Given the description of an element on the screen output the (x, y) to click on. 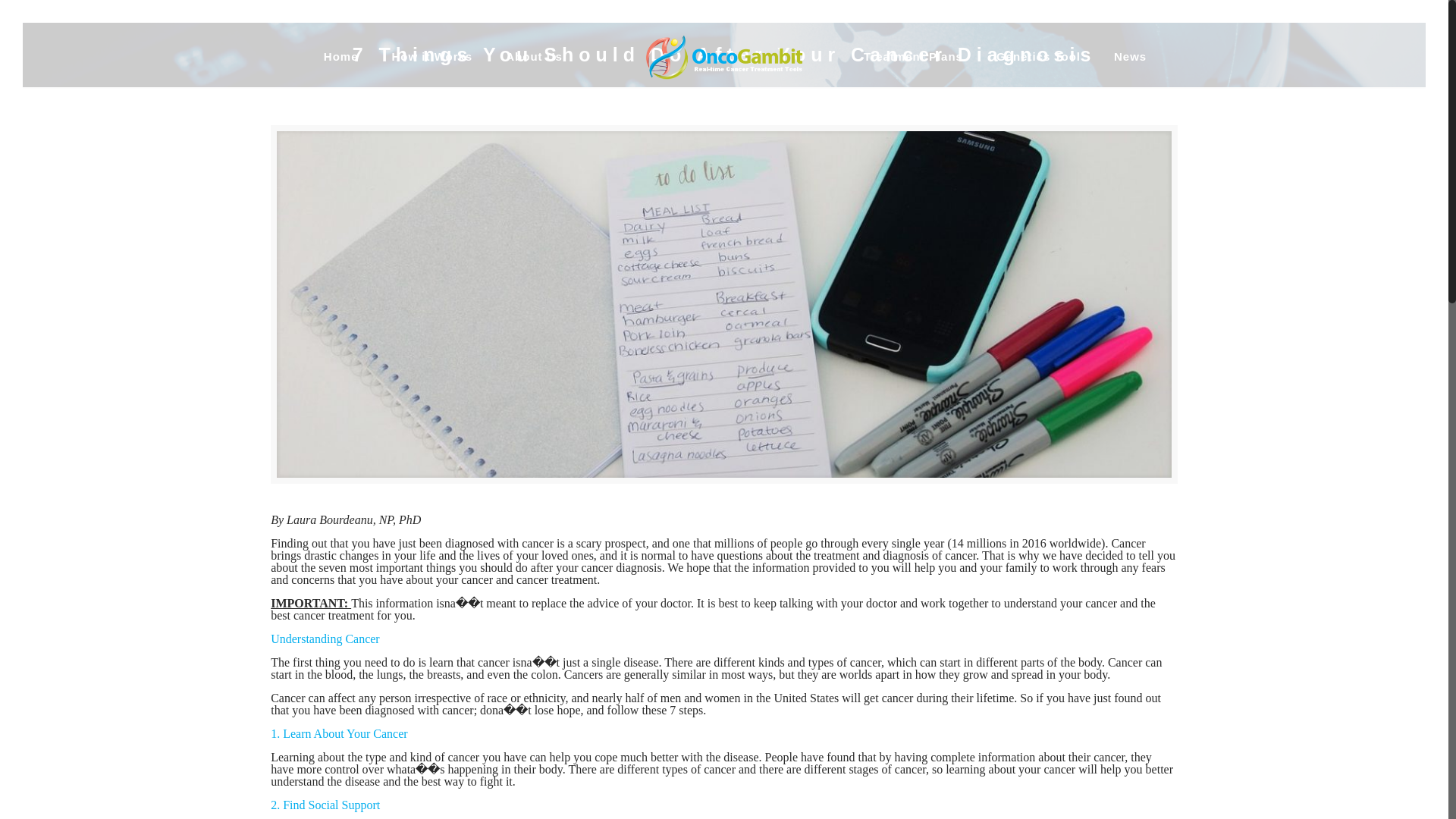
Treatment Plans (913, 56)
OncoGambit (723, 56)
How it Works (431, 56)
News (1130, 56)
About Us (534, 56)
Home (341, 56)
Genetics Tool (1038, 56)
